Given the description of an element on the screen output the (x, y) to click on. 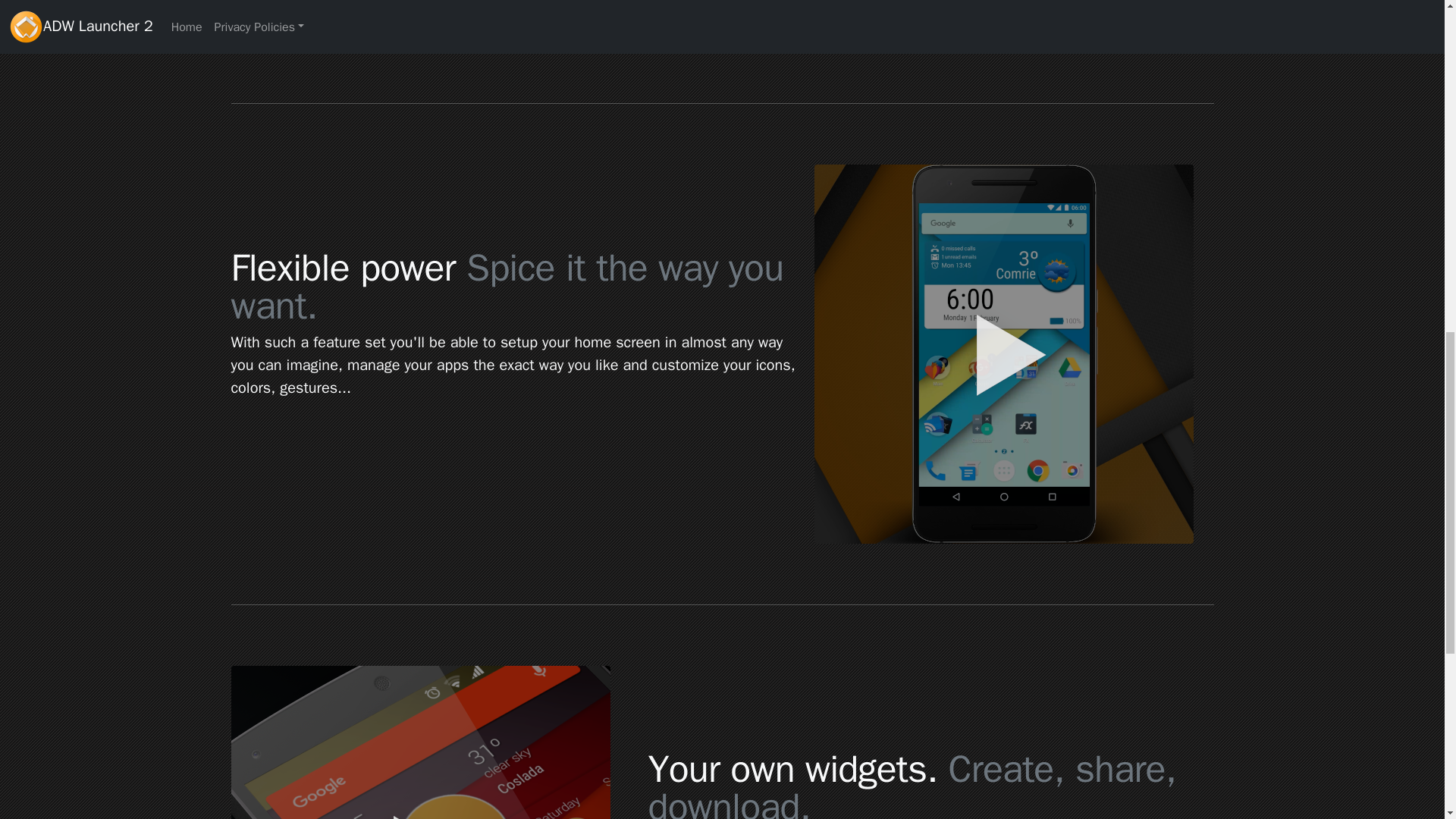
Play Video (420, 742)
